Given the description of an element on the screen output the (x, y) to click on. 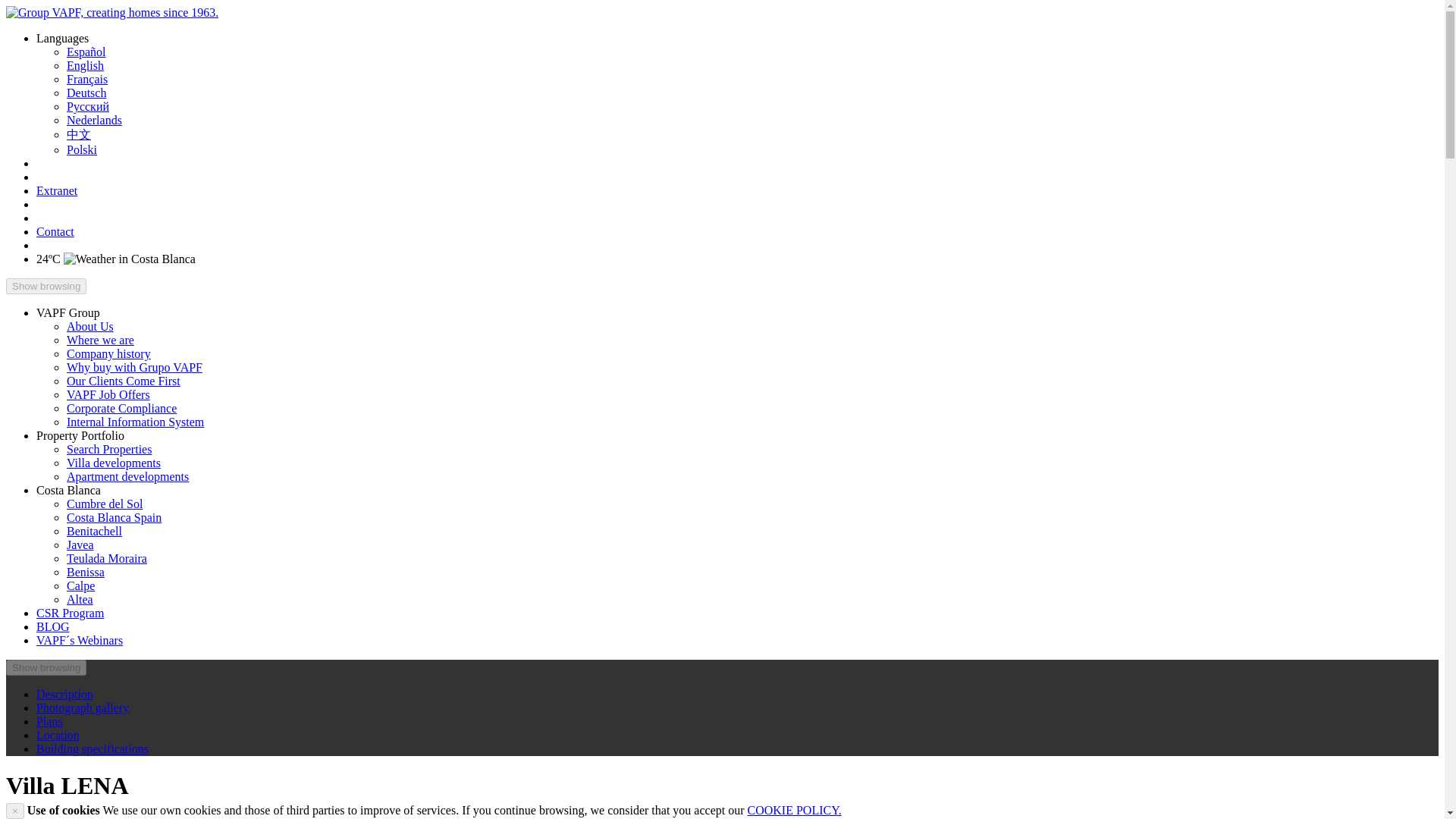
Villa developments (113, 462)
Where we are (99, 339)
Teulada Moraira (106, 558)
VAPF Job Offers (107, 394)
Our Clients Come First (123, 380)
Internal Information System (134, 421)
Languages (62, 38)
Search Properties (108, 449)
Company history (108, 353)
Why buy with Grupo VAPF (134, 367)
